Given the description of an element on the screen output the (x, y) to click on. 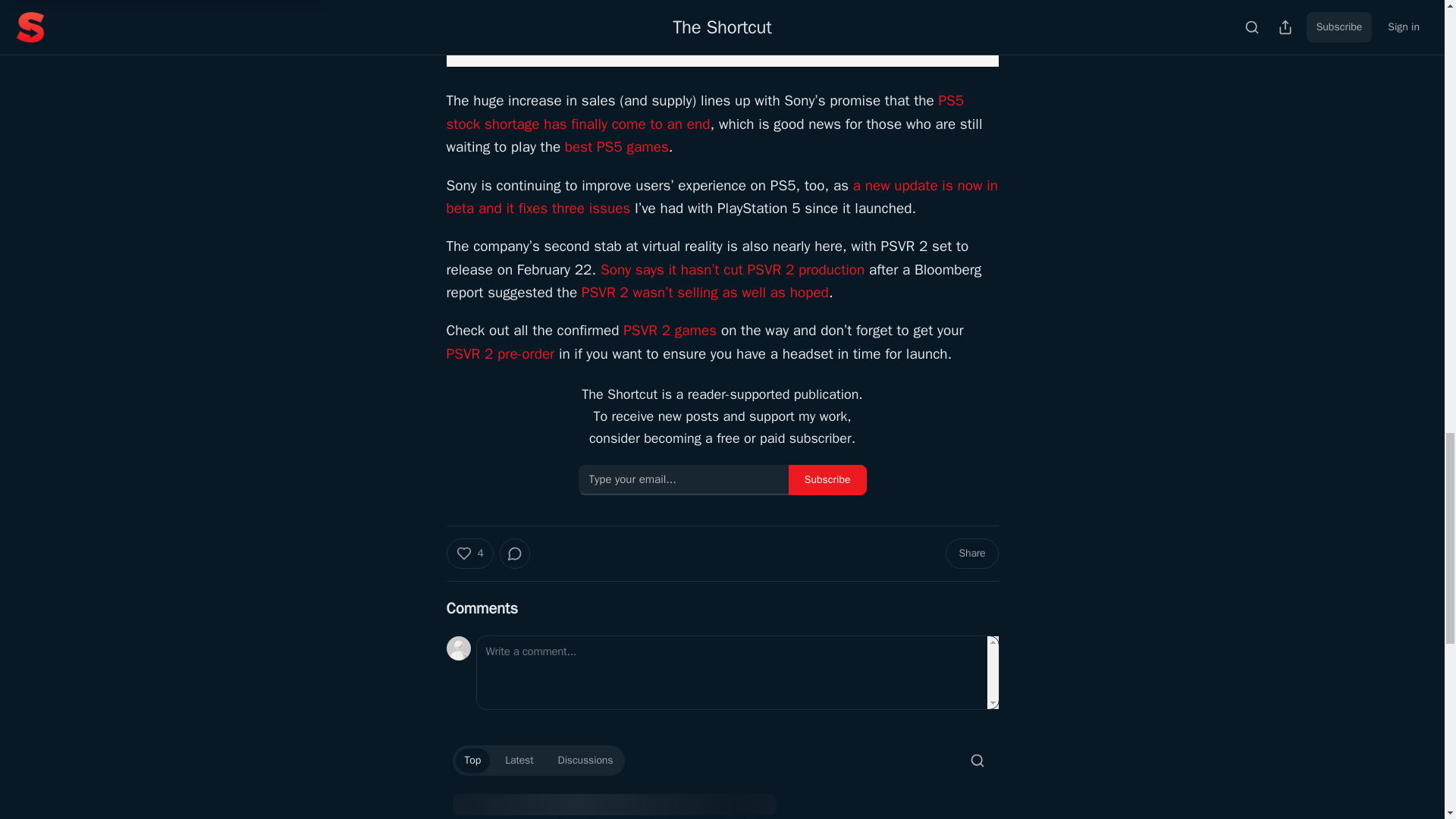
PSVR 2 games (669, 330)
PS5 stock shortage has finally come to an end (704, 111)
best PS5 games (616, 147)
Subscribe (827, 480)
a new update is now in beta and it fixes three issues (721, 196)
PSVR 2 pre-order (499, 353)
